Given the description of an element on the screen output the (x, y) to click on. 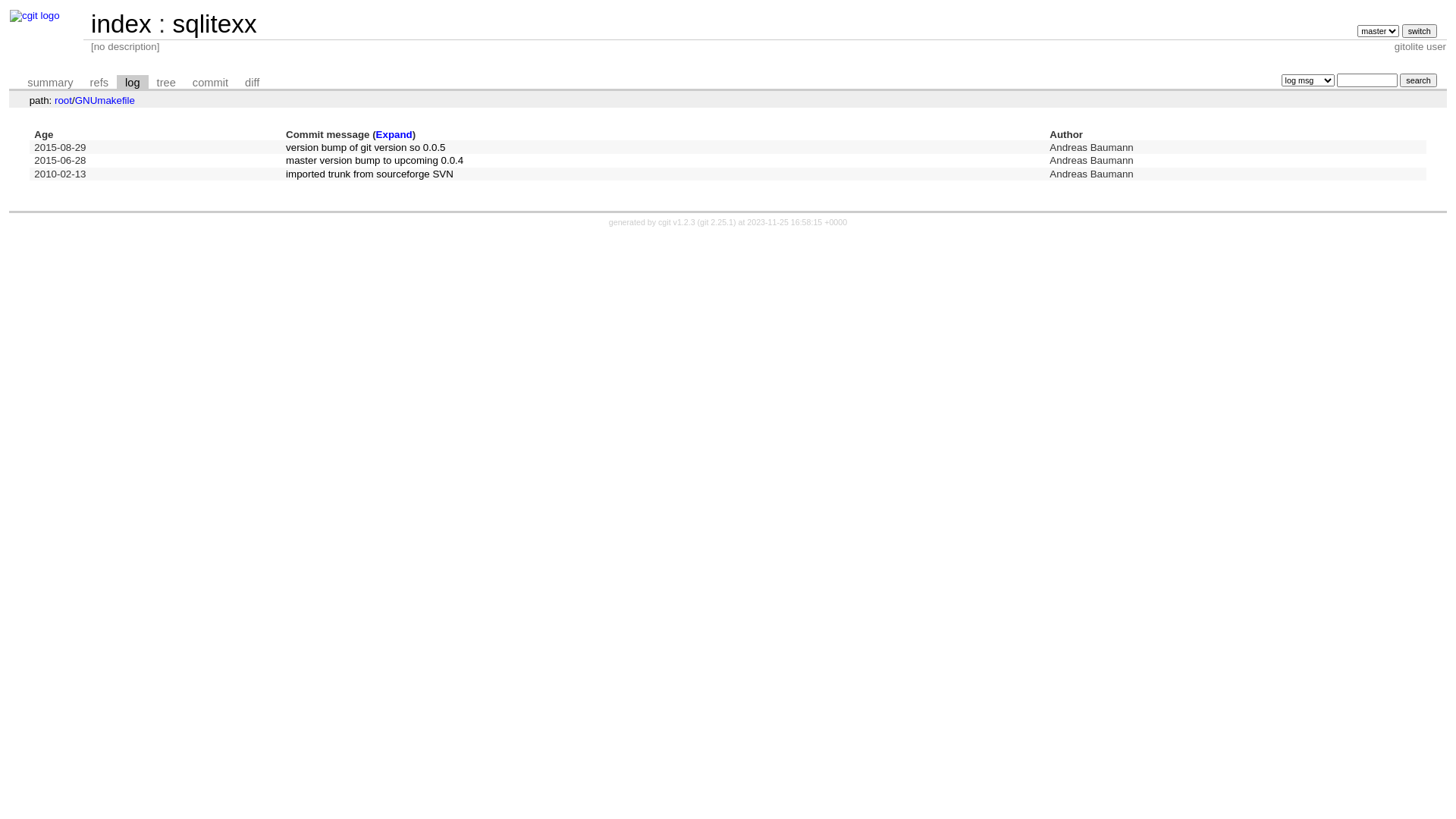
search Element type: text (1417, 80)
summary Element type: text (49, 82)
refs Element type: text (98, 82)
version bump of git version so 0.0.5 Element type: text (365, 147)
GNUmakefile Element type: text (104, 100)
sqlitexx Element type: text (214, 23)
cgit v1.2.3 Element type: text (676, 221)
master version bump to upcoming 0.0.4 Element type: text (374, 160)
log Element type: text (132, 82)
diff Element type: text (251, 82)
switch Element type: text (1419, 30)
git 2.25.1 Element type: text (716, 221)
index Element type: text (121, 23)
Expand Element type: text (394, 134)
commit Element type: text (210, 82)
imported trunk from sourceforge SVN Element type: text (369, 173)
tree Element type: text (166, 82)
root Element type: text (63, 100)
